Given the description of an element on the screen output the (x, y) to click on. 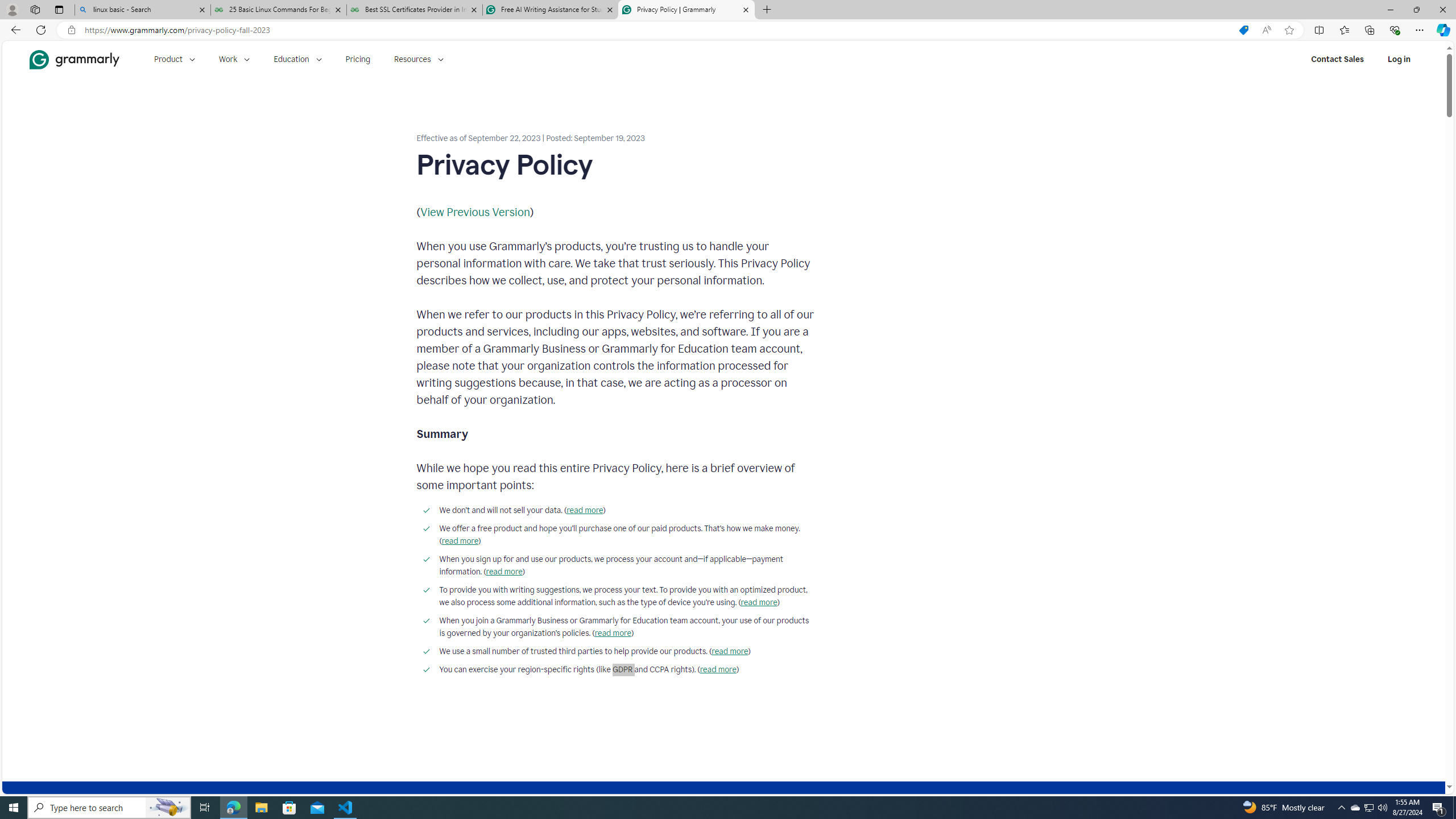
25 Basic Linux Commands For Beginners - GeeksforGeeks (277, 9)
Education (297, 58)
Grammarly Home (74, 59)
Contact Sales (1337, 58)
Shopping in Microsoft Edge (1243, 29)
Grammarly Home (74, 59)
Product (174, 58)
Work (234, 58)
